Given the description of an element on the screen output the (x, y) to click on. 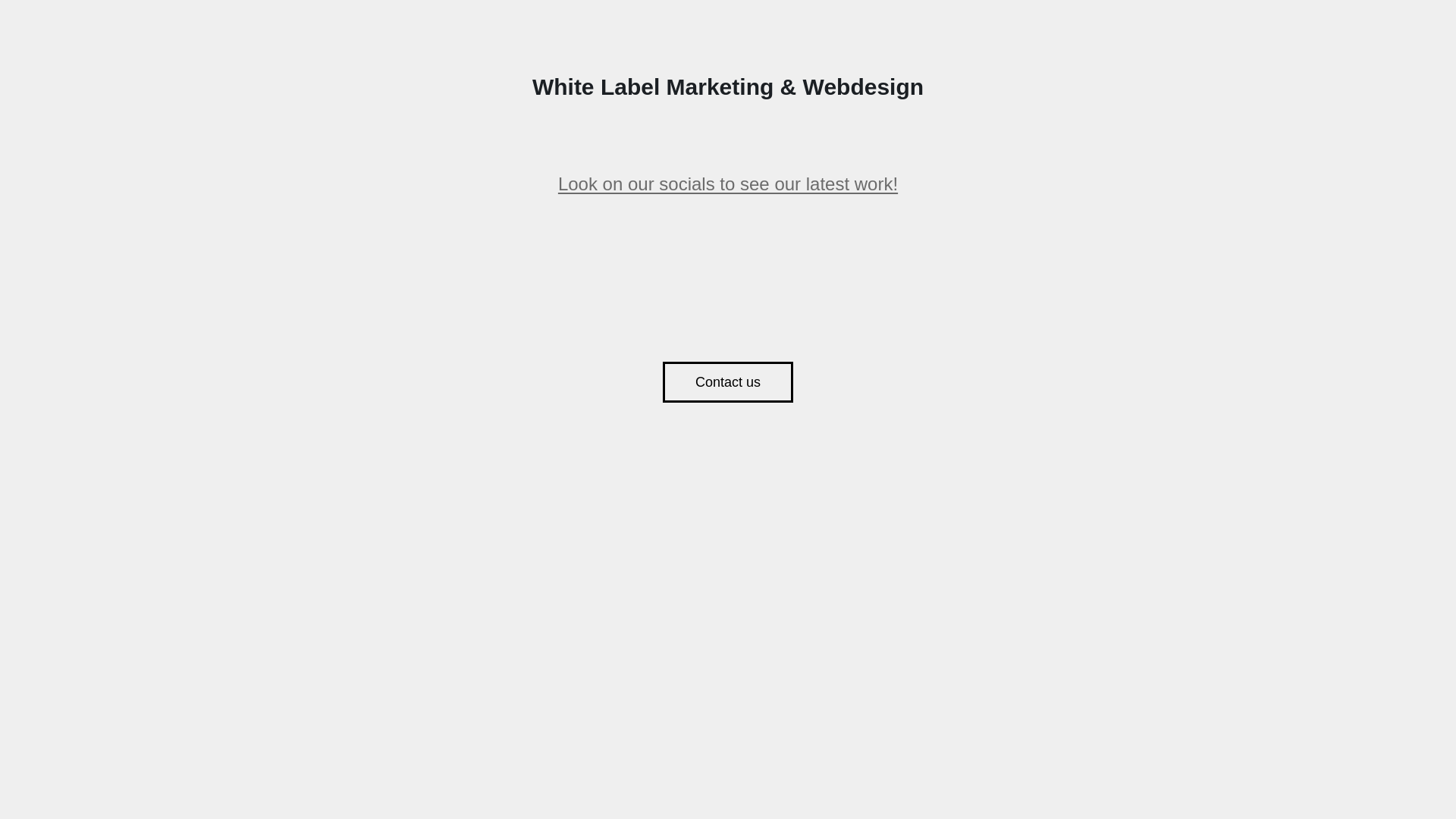
Look on our socials to see our latest work! Element type: text (727, 183)
Contact us Element type: text (727, 381)
facebook Element type: text (727, 284)
